Given the description of an element on the screen output the (x, y) to click on. 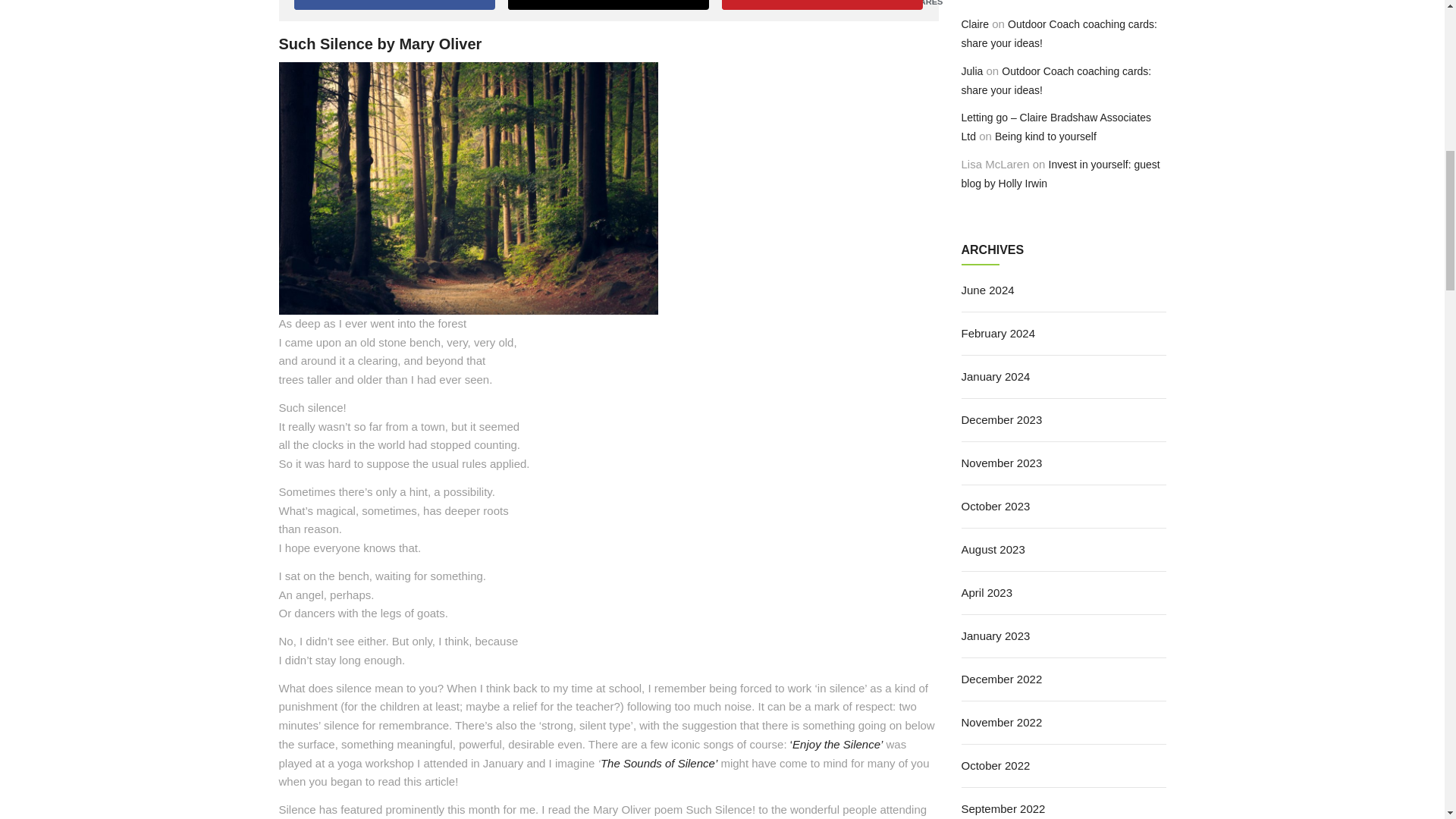
Share on Facebook (395, 4)
Save to Pinterest (822, 4)
Share on X (609, 4)
